Given the description of an element on the screen output the (x, y) to click on. 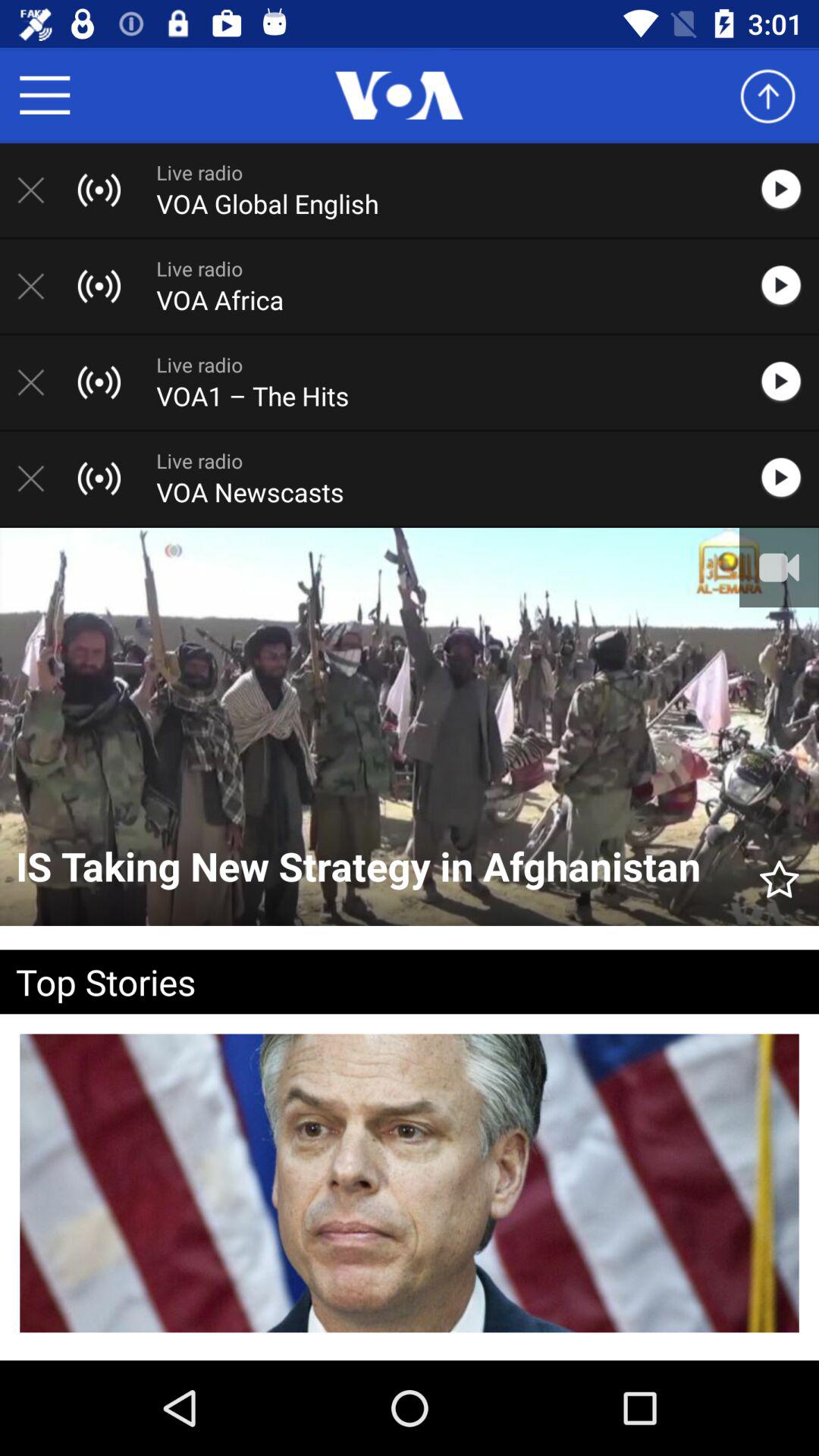
play voa africa live radio (789, 285)
